Given the description of an element on the screen output the (x, y) to click on. 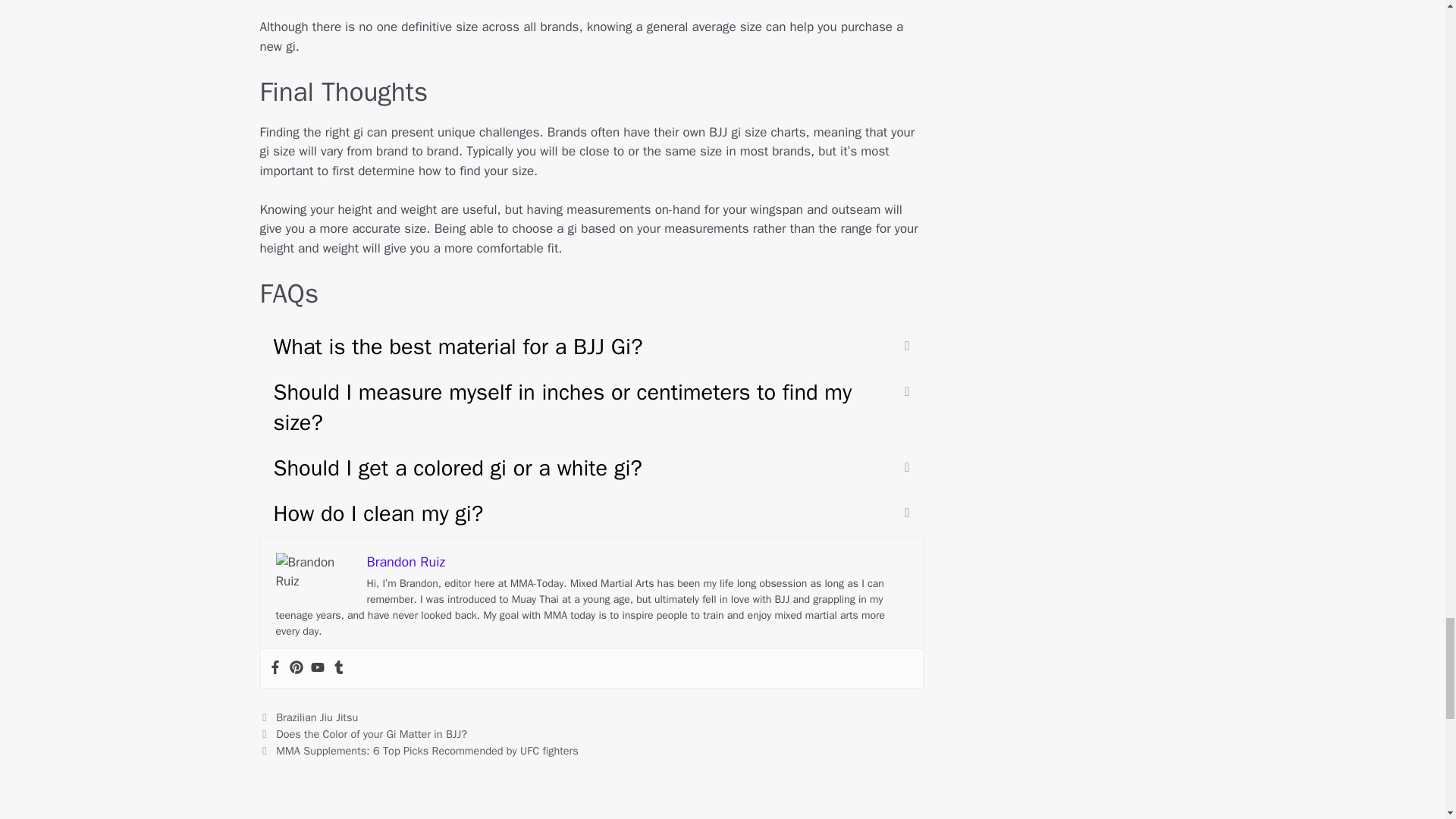
Should I get a colored gi or a white gi? (591, 468)
How do I clean my gi? (591, 514)
Brandon Ruiz (405, 561)
What is the best material for a BJJ Gi? (591, 347)
